Given the description of an element on the screen output the (x, y) to click on. 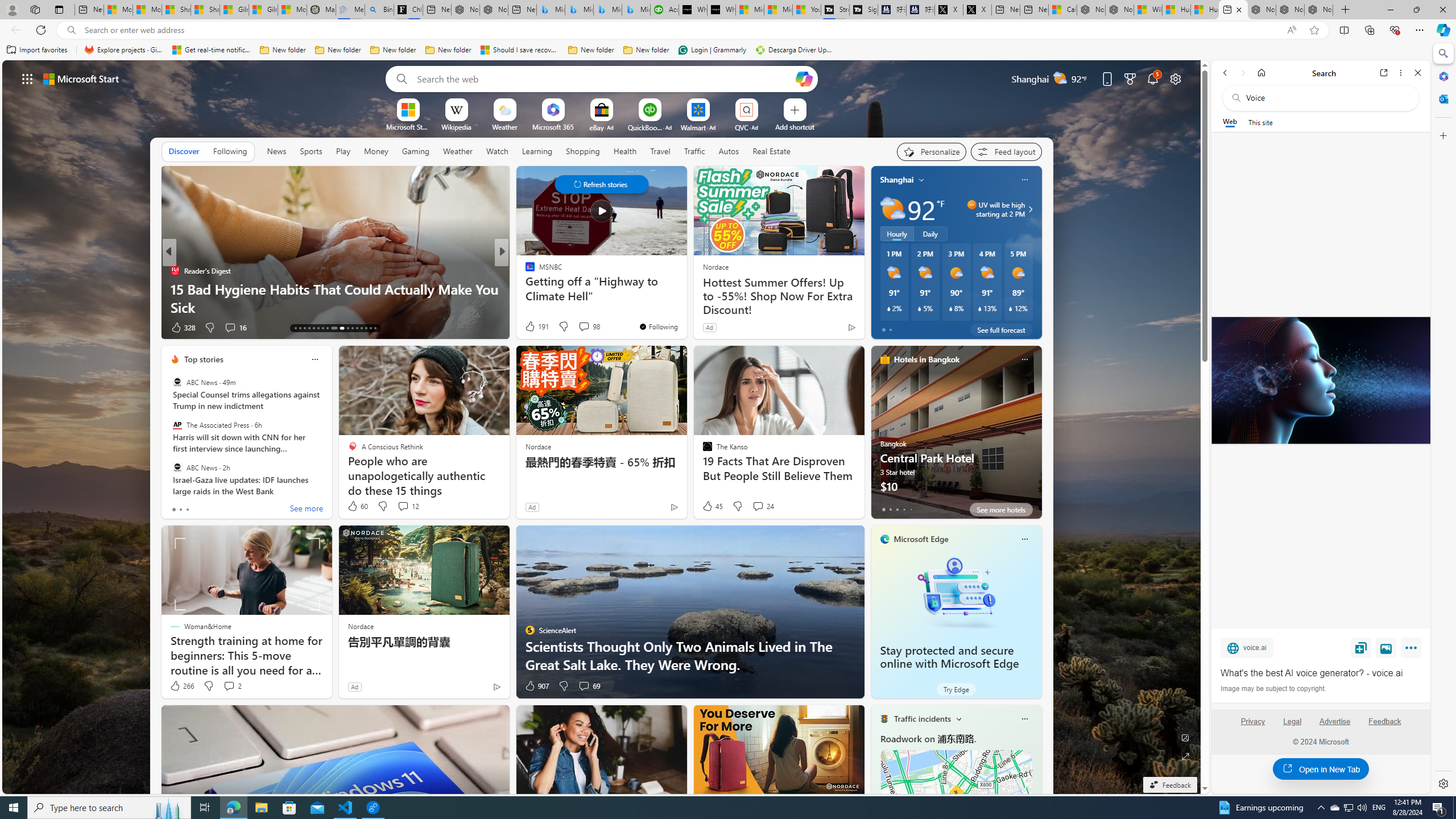
AutomationID: tab-28 (370, 328)
Open in New Tab (1321, 768)
15 Bad Hygiene Habits That Could Actually Make You Sick (335, 298)
Search icon (70, 29)
Stay protected and secure online with Microsoft Edge (949, 657)
Sports (310, 151)
Image may be subject to copyright. (1273, 688)
Should I save recovered Word documents? - Microsoft Support (519, 49)
